Given the description of an element on the screen output the (x, y) to click on. 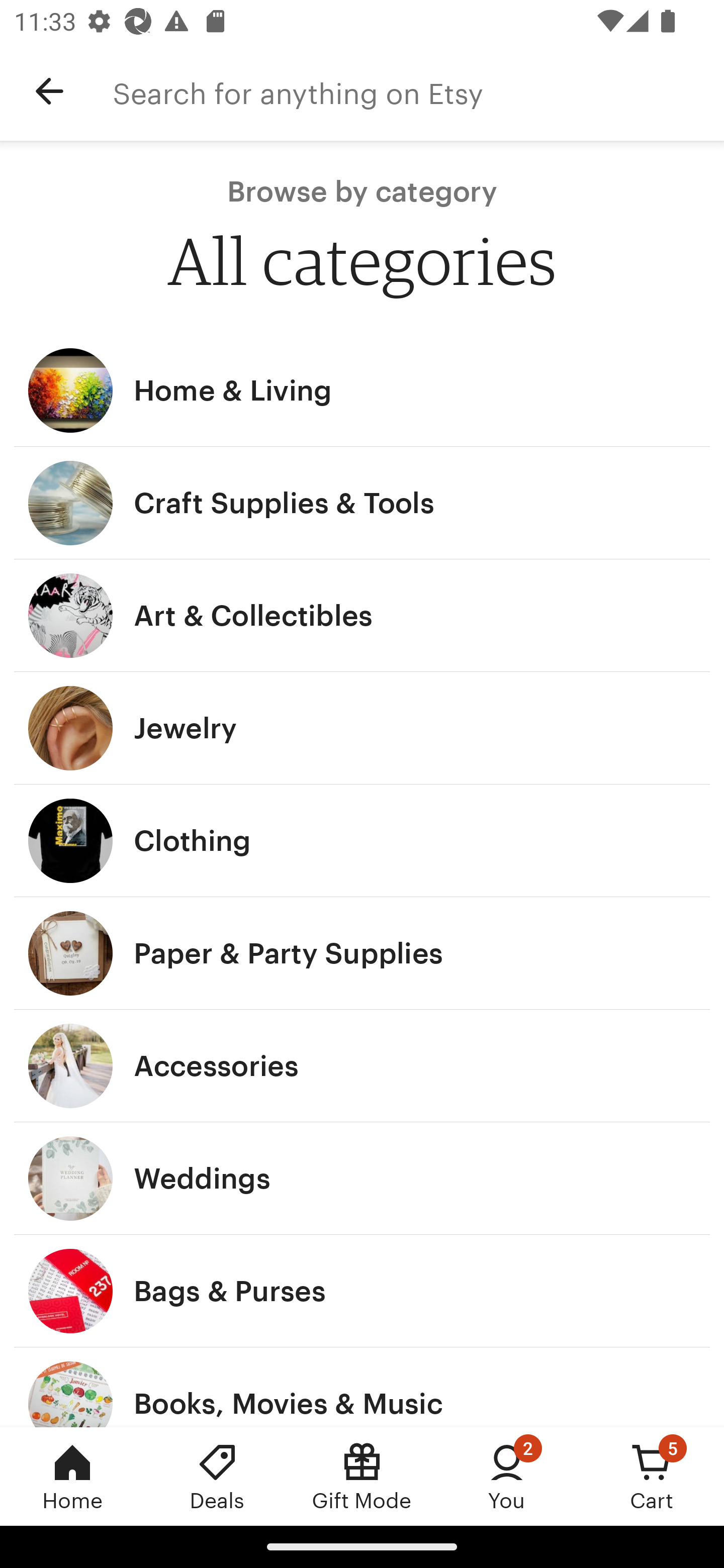
Navigate up (49, 91)
Search for anything on Etsy (418, 91)
Home & Living (361, 389)
Craft Supplies & Tools (361, 502)
Art & Collectibles (361, 615)
Jewelry (361, 728)
Clothing (361, 840)
Paper & Party Supplies (361, 952)
Accessories (361, 1065)
Weddings (361, 1178)
Bags & Purses (361, 1290)
Books, Movies & Music (361, 1386)
Deals (216, 1475)
Gift Mode (361, 1475)
You, 2 new notifications You (506, 1475)
Cart, 5 new notifications Cart (651, 1475)
